Given the description of an element on the screen output the (x, y) to click on. 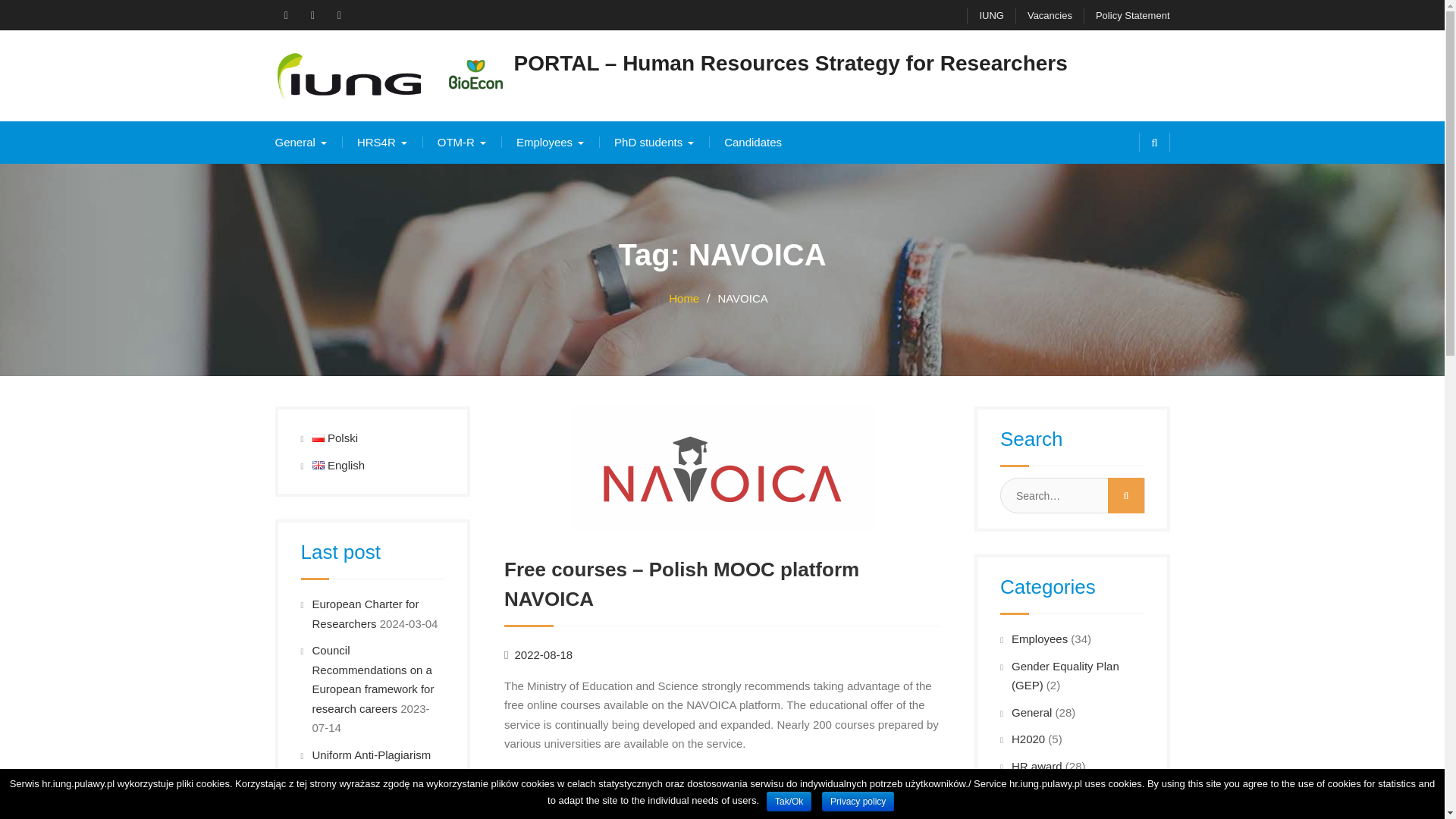
Policy Statement (1126, 15)
English (318, 465)
IUNG (985, 15)
General (300, 142)
Search for: (1072, 495)
Vacancies (1042, 15)
Twitter (338, 15)
Polski (318, 438)
YouTube (312, 15)
Facebook (286, 15)
